Given the description of an element on the screen output the (x, y) to click on. 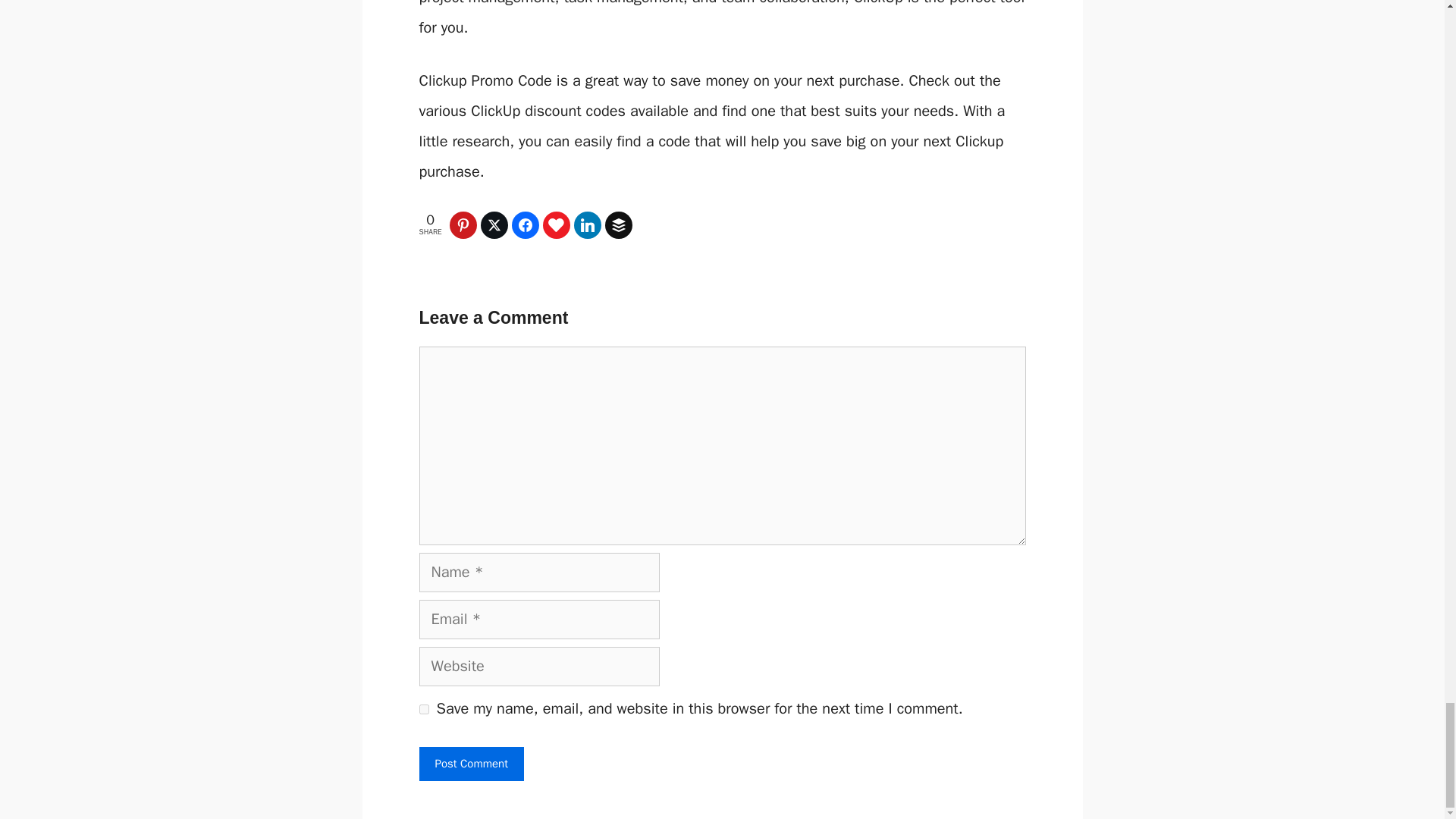
Share on Buffer (620, 225)
Share on Twitter (496, 225)
0 (558, 225)
0 (589, 225)
Share on Facebook (527, 225)
Post Comment (470, 763)
0 (496, 225)
0 (620, 225)
Post Comment (470, 763)
0 (464, 225)
